Given the description of an element on the screen output the (x, y) to click on. 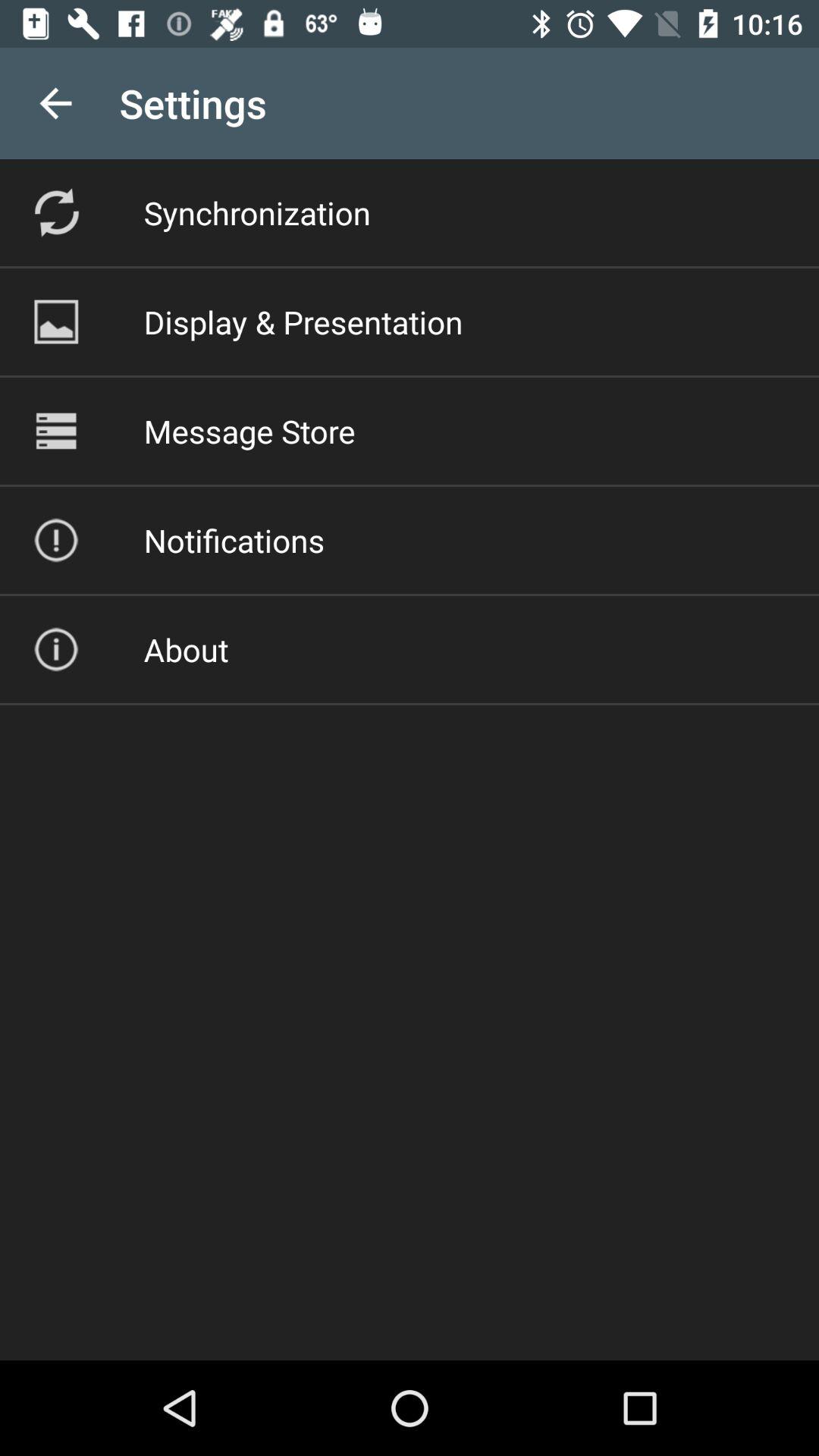
select item above notifications item (249, 430)
